Given the description of an element on the screen output the (x, y) to click on. 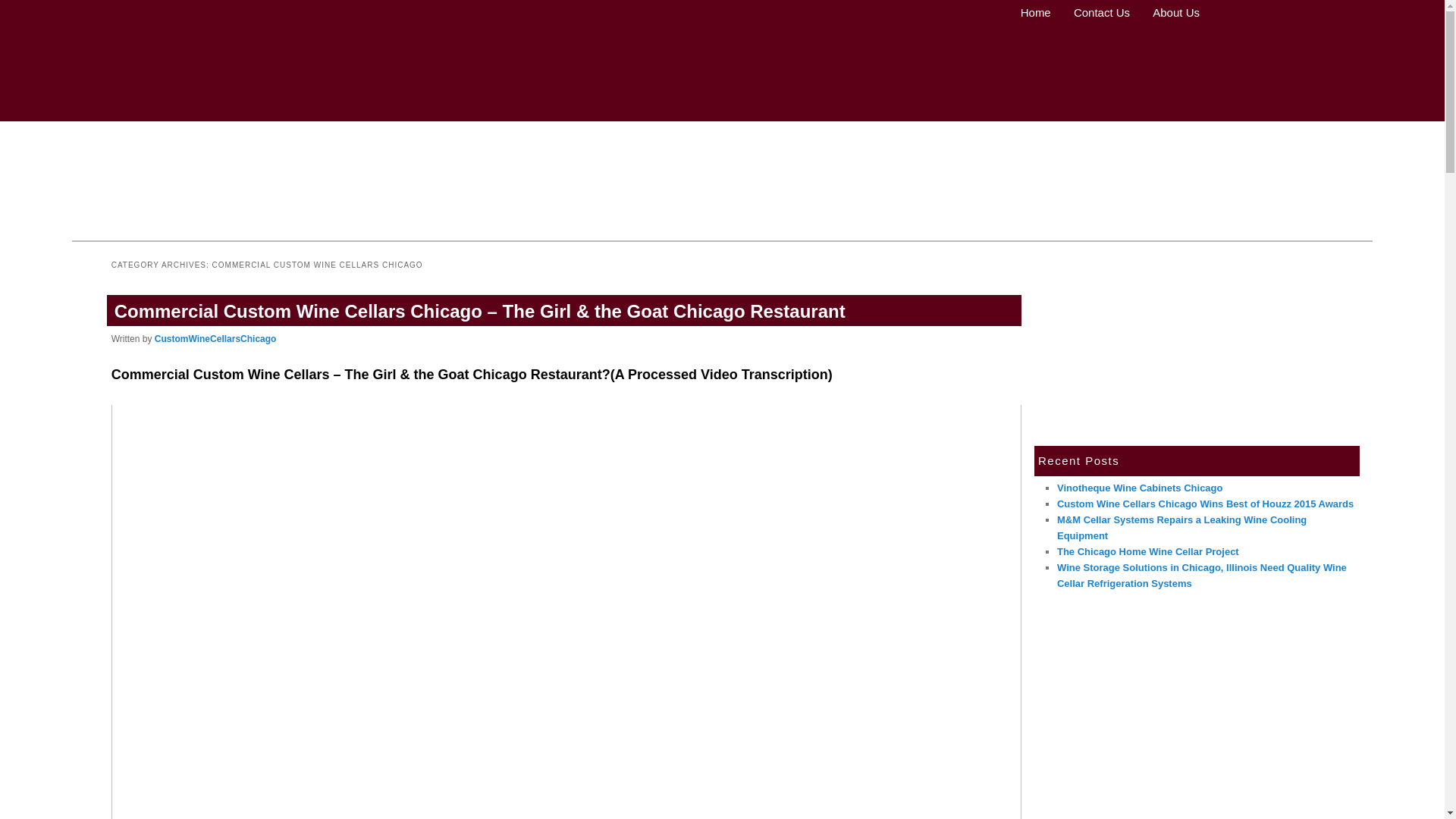
Connect with us on Pinterest (151, 108)
Connect with us on Twitter (106, 108)
About Us (1169, 11)
See us on YouTube (174, 108)
Connect with us on LinkedIn (129, 108)
Home (1030, 11)
What is Comodo Secure SSL? (248, 60)
Connect with us at Facebook (82, 108)
Custom Wine Cellars Chicago (164, 172)
Contact Us (1095, 11)
